Given the description of an element on the screen output the (x, y) to click on. 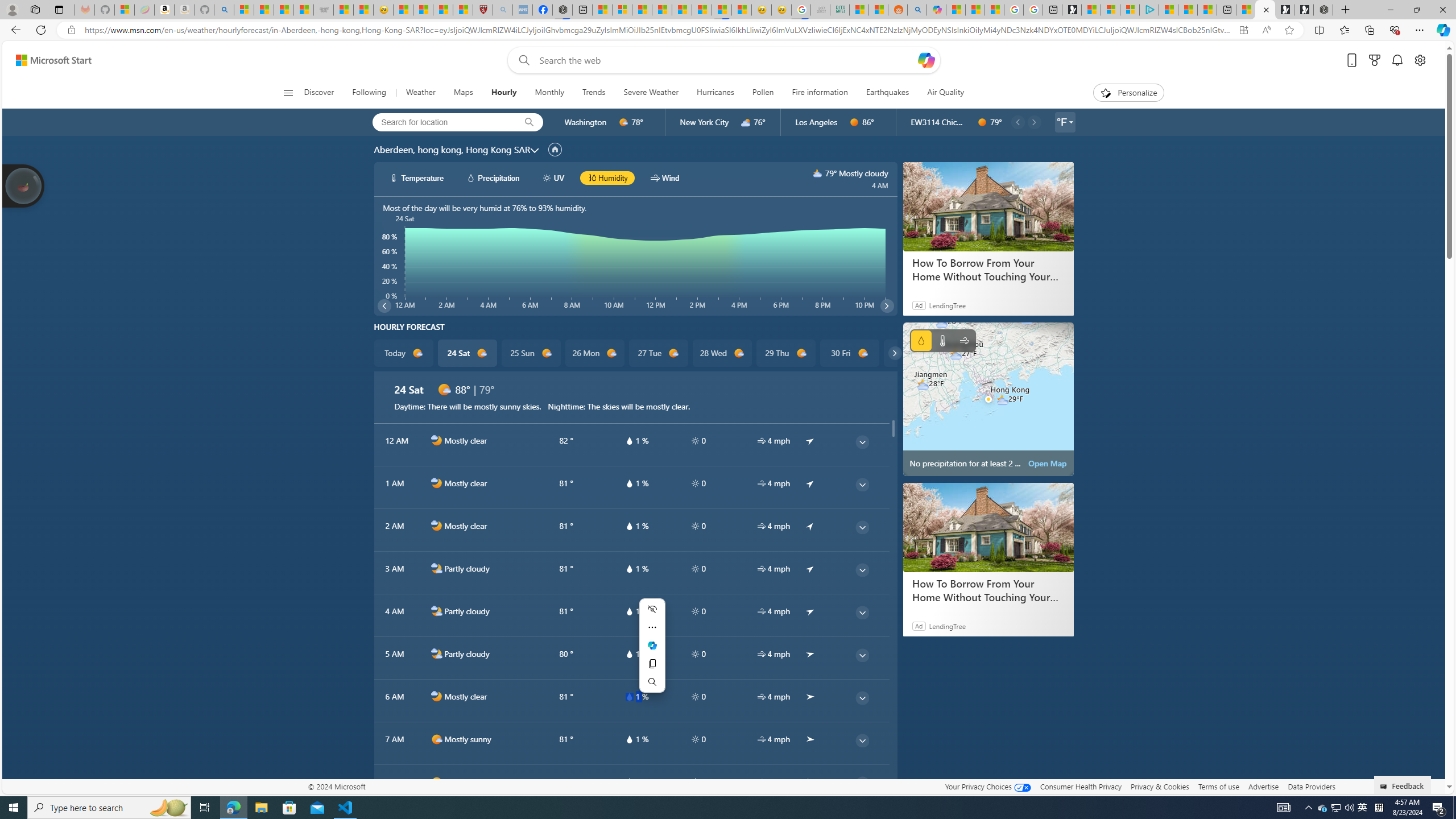
Ask Copilot (652, 645)
d3000 (746, 121)
Open Map (1047, 463)
Earthquakes (888, 92)
hourlyTable/wind (761, 782)
Trends (593, 92)
29 Thu d1000 (785, 352)
common/carouselChevron (895, 353)
